Given the description of an element on the screen output the (x, y) to click on. 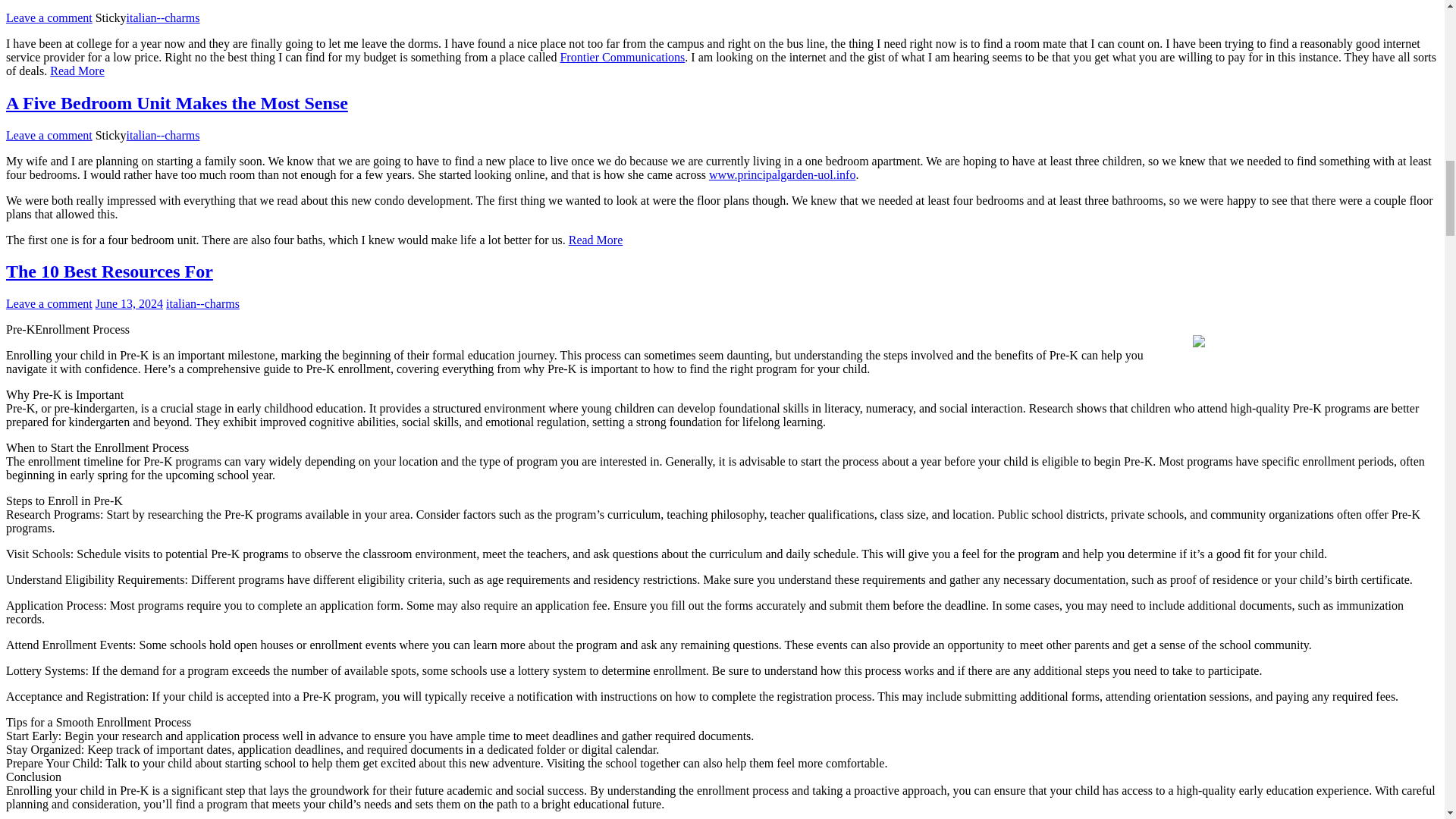
View all posts by italian--charms (202, 303)
View all posts by italian--charms (163, 134)
10:19 pm (129, 303)
View all posts by italian--charms (163, 17)
